Given the description of an element on the screen output the (x, y) to click on. 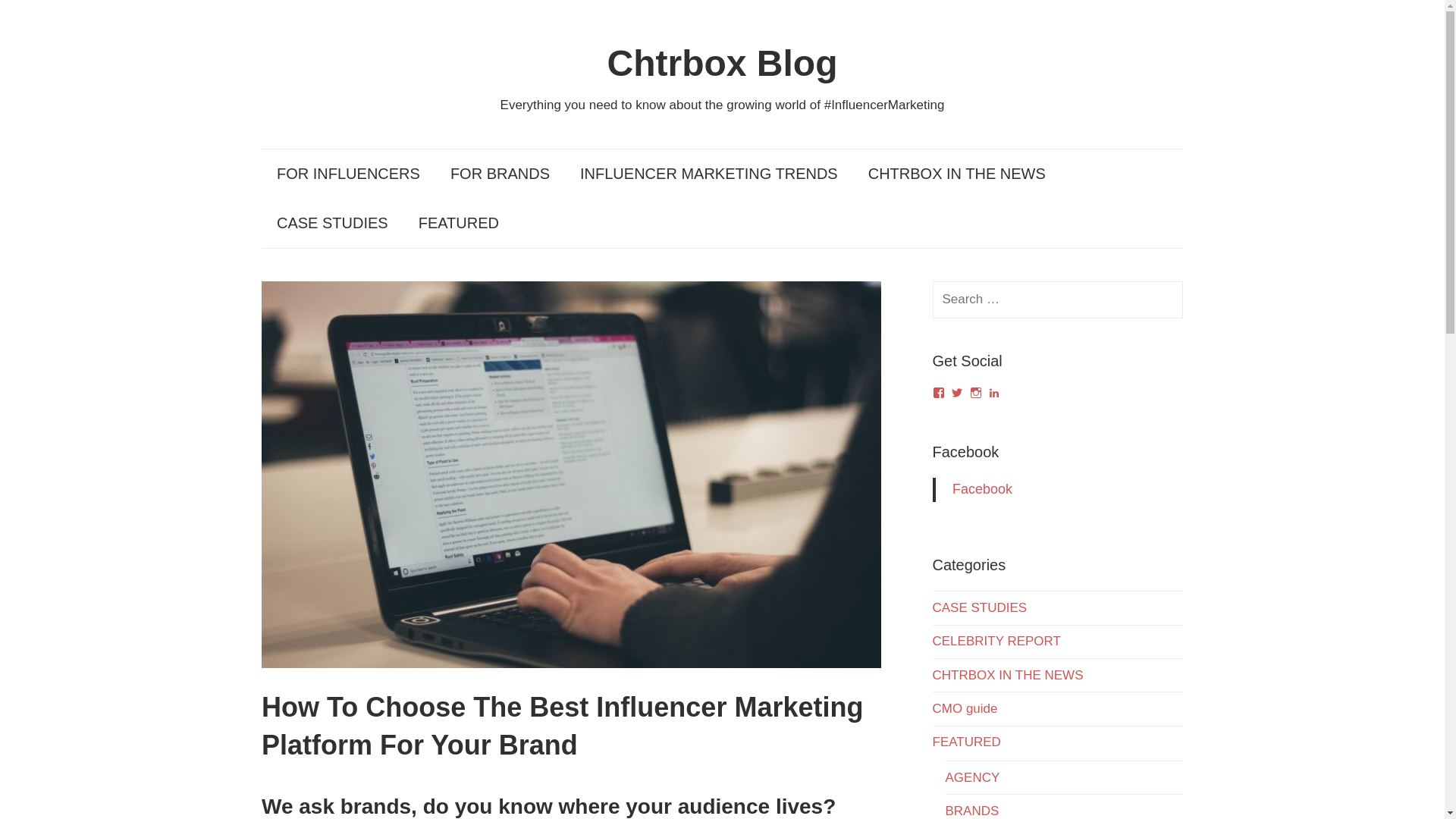
Facebook (965, 451)
CHTRBOX IN THE NEWS (1008, 675)
FEATURED (458, 223)
CMO guide (965, 708)
FOR BRANDS (499, 174)
CASE STUDIES (332, 223)
CELEBRITY REPORT (997, 640)
INFLUENCER MARKETING TRENDS (708, 174)
Facebook (981, 488)
CHTRBOX IN THE NEWS (957, 174)
